Given the description of an element on the screen output the (x, y) to click on. 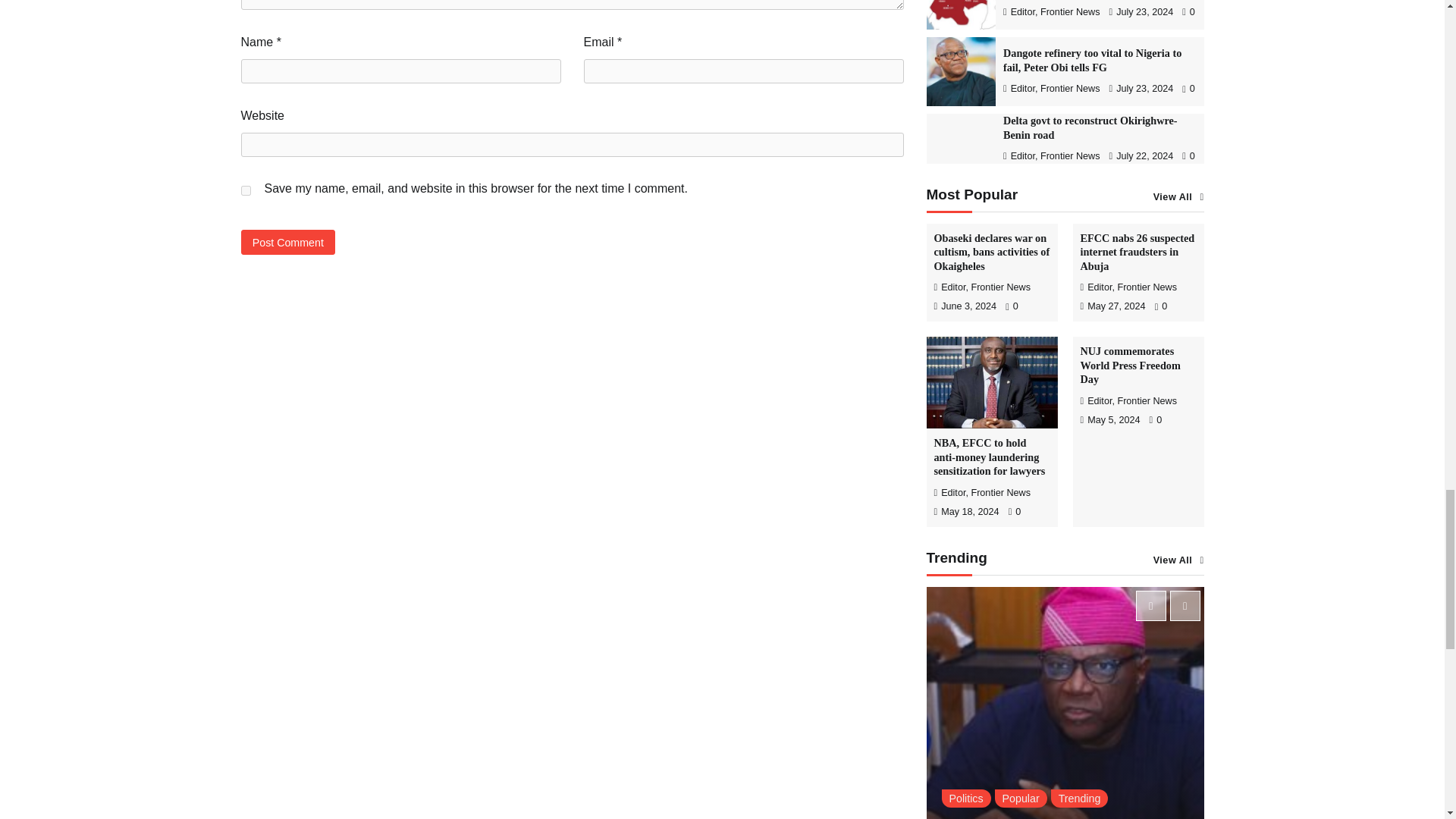
yes (245, 190)
Post Comment (288, 242)
